Given the description of an element on the screen output the (x, y) to click on. 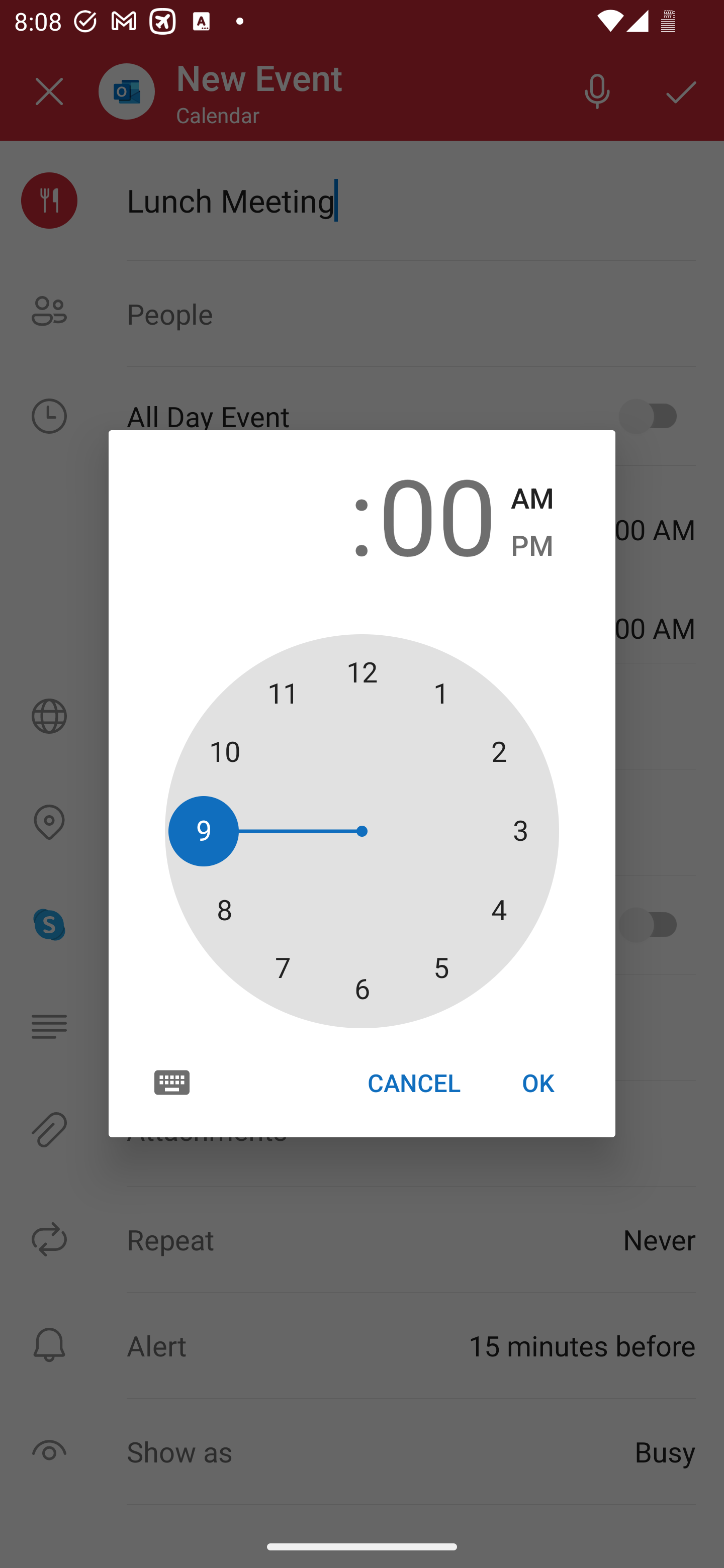
9 (285, 513)
00 (436, 513)
AM (532, 498)
PM (532, 546)
CANCEL (413, 1082)
OK (537, 1082)
Switch to text input mode for the time input. (171, 1081)
